Given the description of an element on the screen output the (x, y) to click on. 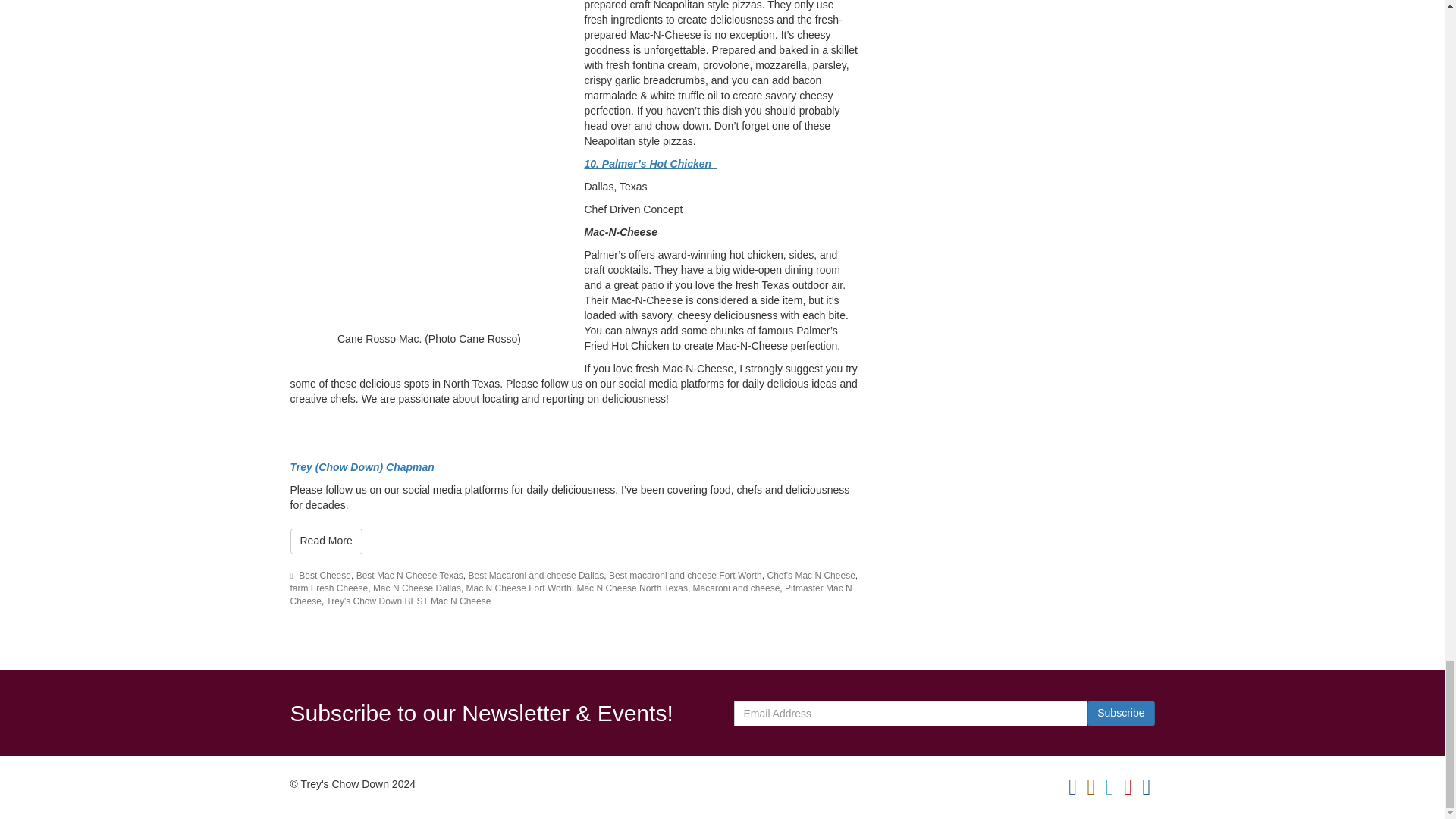
Subscribe (1120, 713)
